Given the description of an element on the screen output the (x, y) to click on. 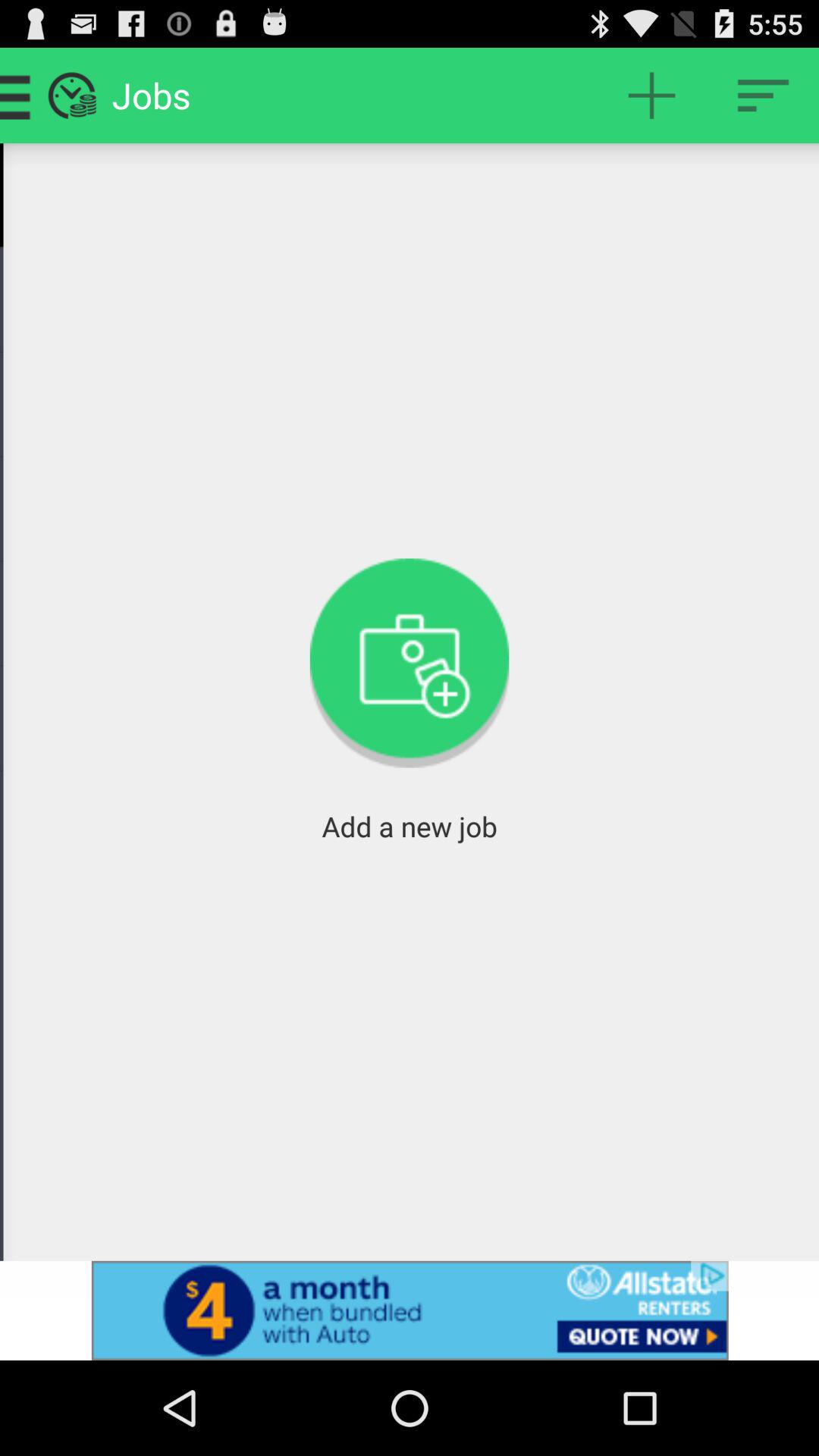
add an entry (651, 95)
